Given the description of an element on the screen output the (x, y) to click on. 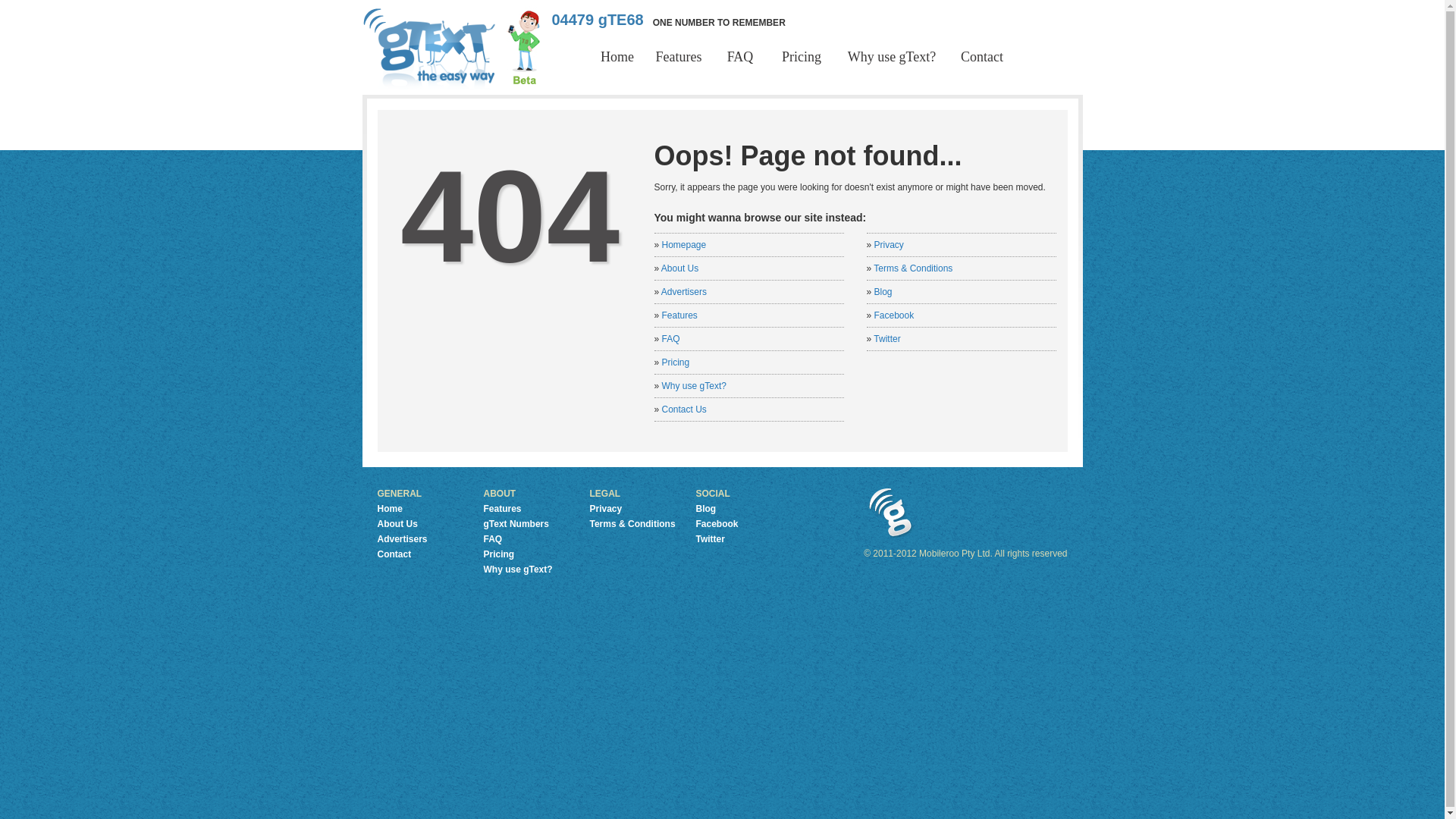
About Us Element type: text (397, 523)
Pricing Element type: text (676, 362)
Homepage Element type: text (684, 244)
Why use gText? Element type: text (694, 385)
Privacy Element type: text (888, 244)
Home Element type: text (389, 508)
Contact Us Element type: text (684, 409)
Home Element type: text (617, 56)
Privacy Element type: text (605, 508)
Features Element type: text (678, 56)
Twitter Element type: text (886, 338)
Advertisers Element type: text (402, 538)
FAQ Element type: text (740, 56)
Blog Element type: text (883, 291)
Pricing Element type: text (800, 56)
FAQ Element type: text (492, 538)
Features Element type: text (679, 315)
Terms & Conditions Element type: text (632, 523)
Contact Element type: text (394, 554)
Features Element type: text (502, 508)
Contact Element type: text (981, 56)
Why use gText? Element type: text (891, 56)
Twitter Element type: text (710, 538)
Why use gText? Element type: text (517, 569)
About Us Element type: text (679, 268)
Facebook Element type: text (717, 523)
FAQ Element type: text (671, 338)
Facebook Element type: text (894, 315)
gText Numbers Element type: text (516, 523)
Blog Element type: text (706, 508)
Terms & Conditions Element type: text (912, 268)
Advertisers Element type: text (683, 291)
Pricing Element type: text (498, 554)
